Given the description of an element on the screen output the (x, y) to click on. 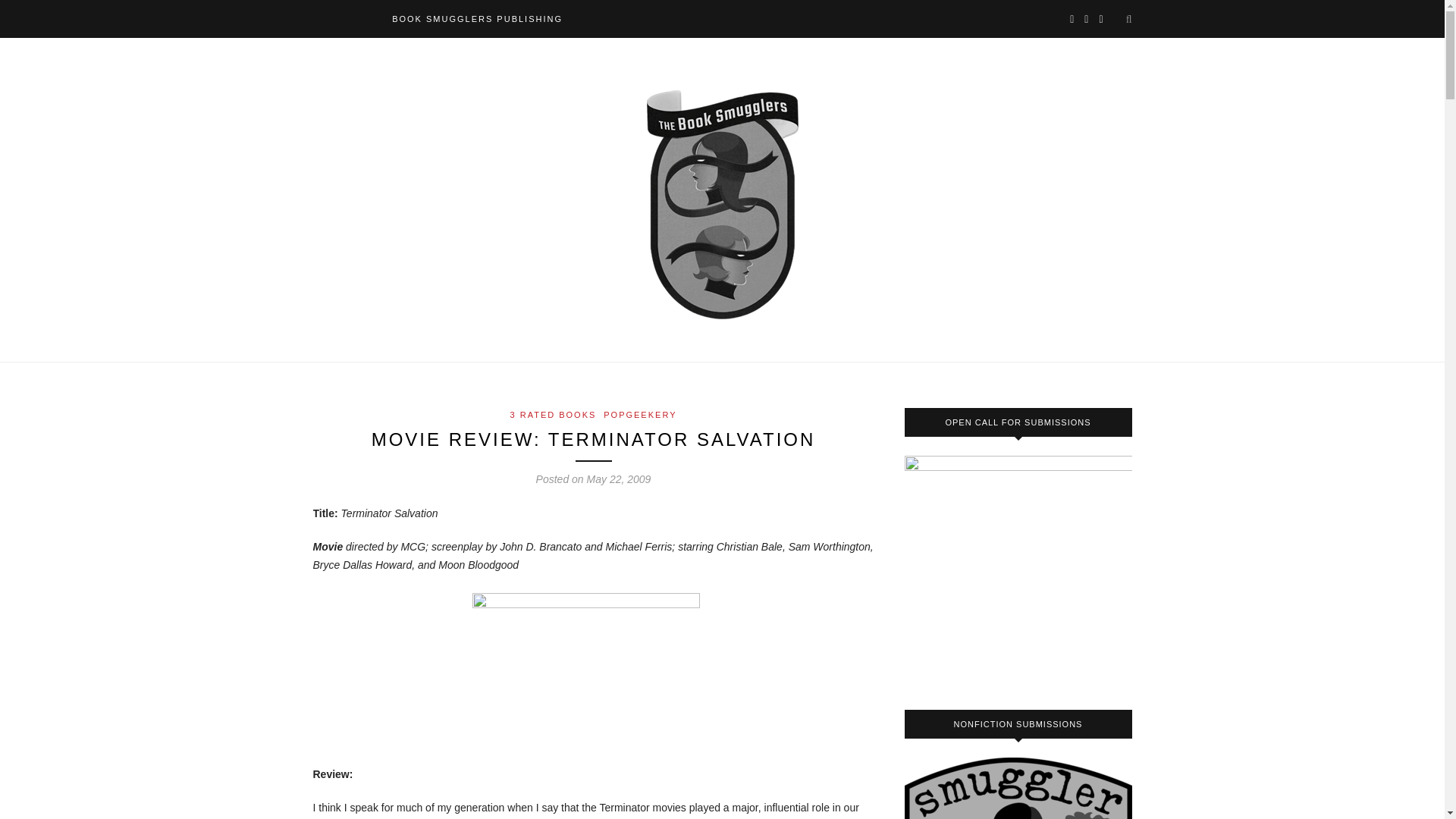
BOOK SMUGGLERS PUBLISHING (476, 18)
salvation-poster (584, 663)
POPGEEKERY (640, 414)
3 RATED BOOKS (553, 414)
